Given the description of an element on the screen output the (x, y) to click on. 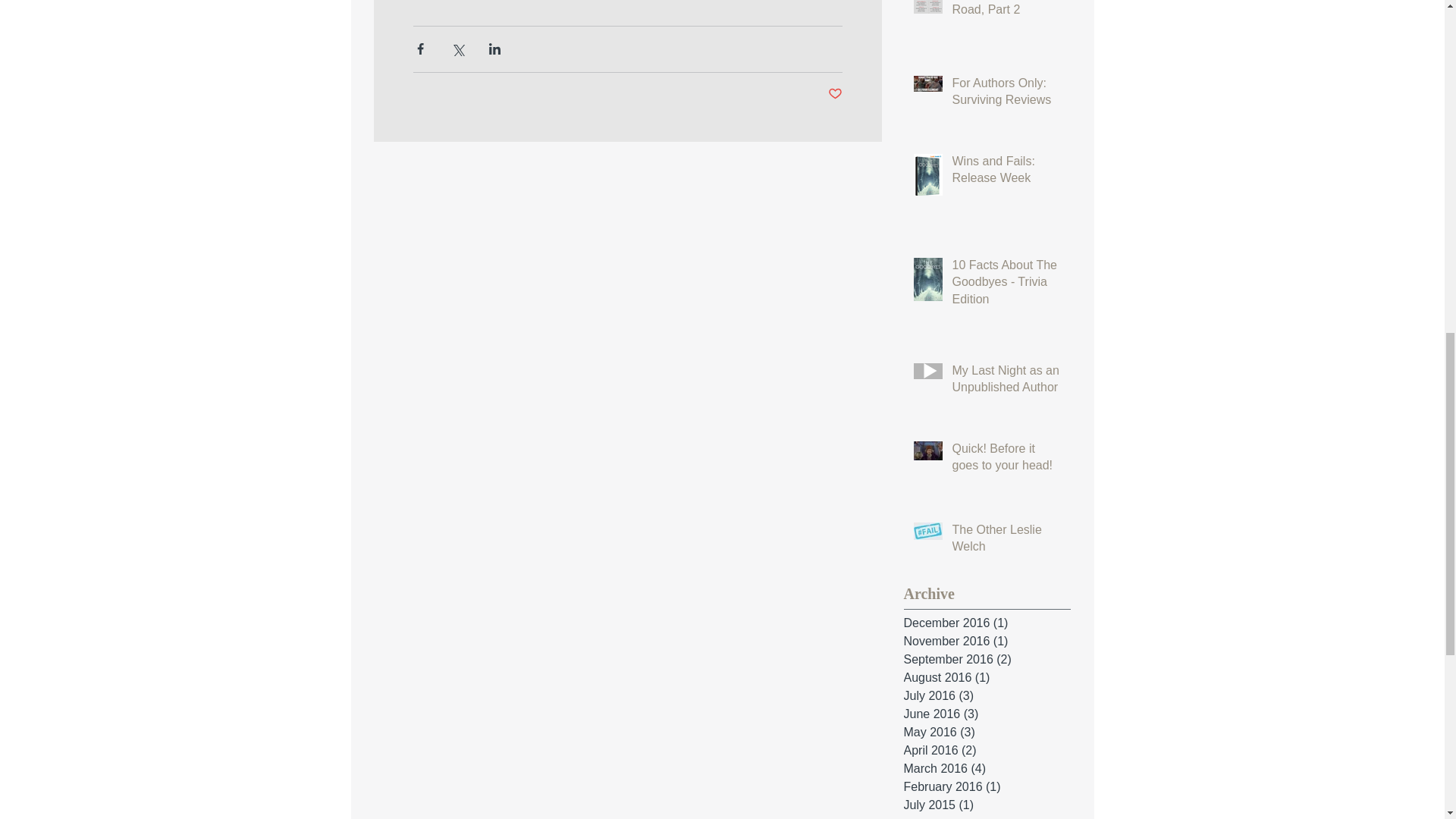
Quick! Before it goes to your head! (1006, 460)
10 Facts About The Goodbyes - Trivia Edition (1006, 285)
Post not marked as liked (835, 94)
For Authors Only: Surviving Reviews (1006, 95)
My Last Night as an Unpublished Author (1006, 382)
Wins and Fails: Release Week (1006, 173)
The Other Leslie Welch (1006, 541)
Tales from the Road, Part 2 (1006, 12)
